Given the description of an element on the screen output the (x, y) to click on. 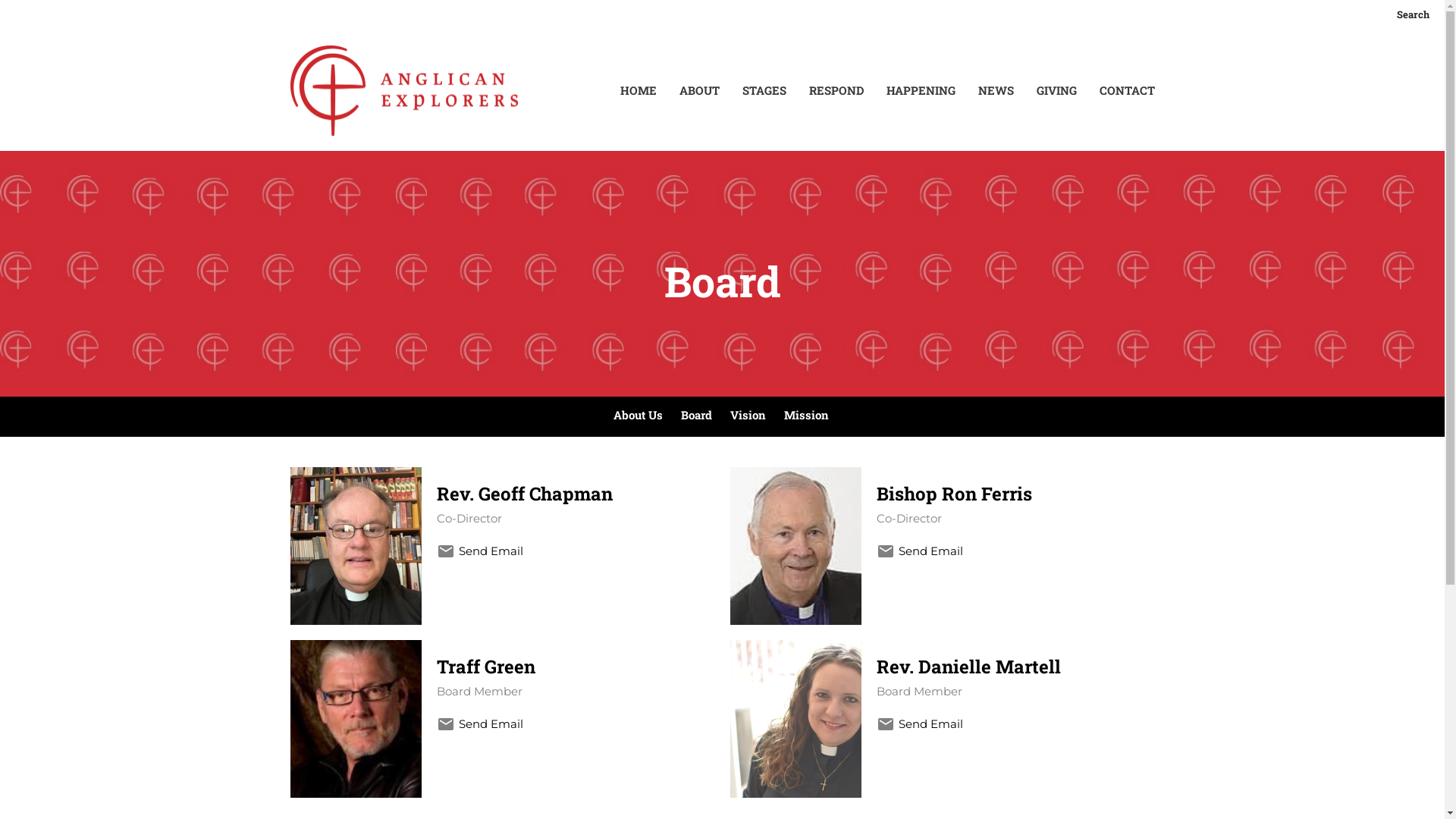
ABOUT Element type: text (699, 90)
Send Email Element type: text (930, 723)
Send Email Element type: text (930, 550)
Rev. Geoff Chapman
Co-Director Element type: text (575, 504)
GIVING Element type: text (1055, 90)
STAGES Element type: text (763, 90)
Vision Element type: text (747, 416)
Traff Green
Board Member Element type: text (575, 677)
About Us Element type: text (637, 416)
Search Element type: text (1413, 14)
RESPOND Element type: text (835, 90)
Board Element type: text (696, 416)
CONTACT Element type: text (1126, 90)
Mission Element type: text (806, 416)
HOME Element type: text (638, 90)
Rev. Danielle Martell
Board Member Element type: text (1015, 677)
HAPPENING Element type: text (919, 90)
Send Email Element type: text (490, 723)
Send Email Element type: text (490, 550)
Bishop Ron Ferris
Co-Director Element type: text (1015, 504)
NEWS Element type: text (995, 90)
